Given the description of an element on the screen output the (x, y) to click on. 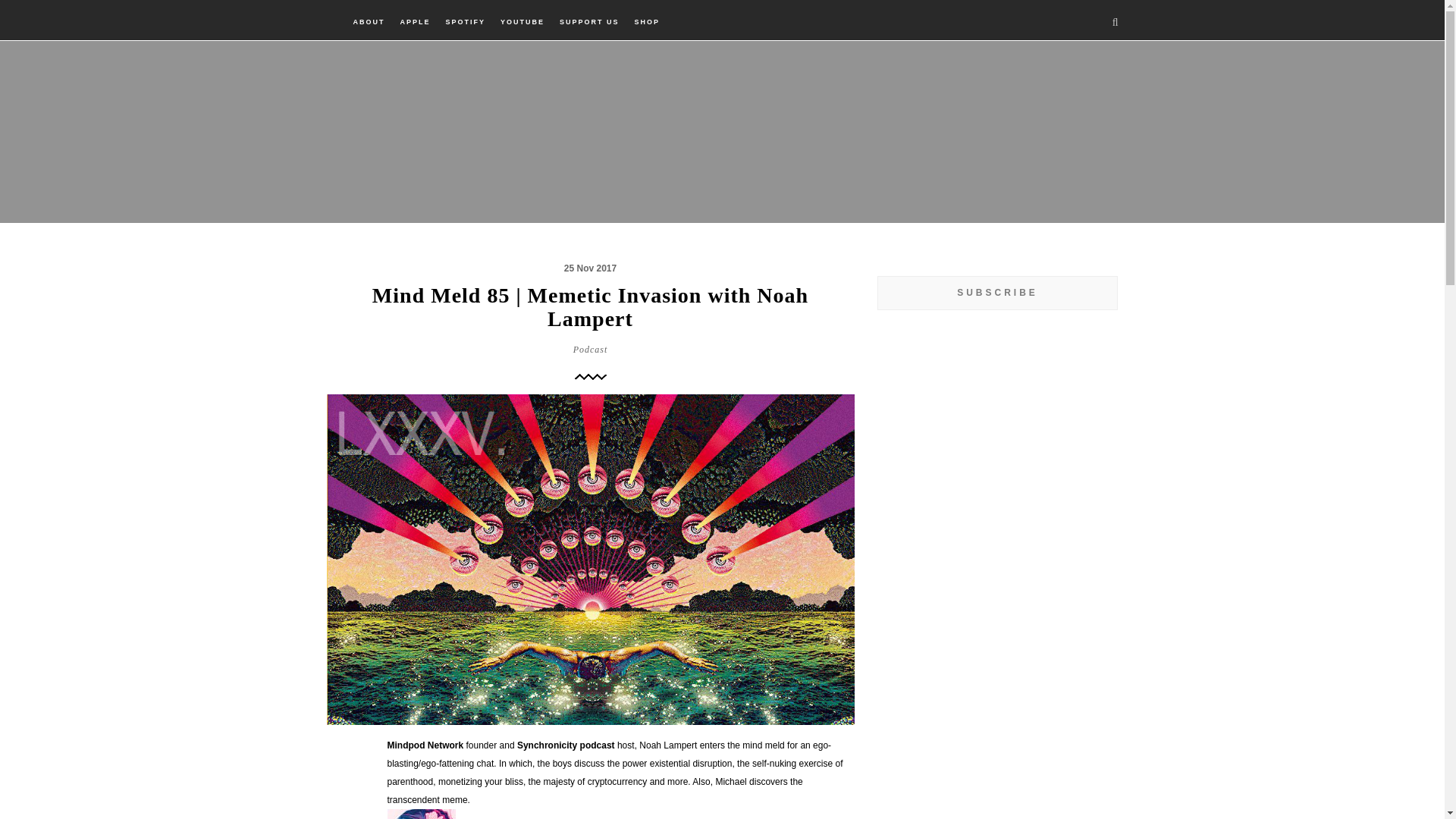
SPOTIFY (465, 22)
Synchronicity podcast (565, 745)
APPLE (414, 22)
ABOUT (368, 22)
YOUTUBE (522, 22)
SUPPORT US (589, 22)
Podcast (590, 349)
Mindpod Network (425, 745)
SHOP (646, 22)
